Given the description of an element on the screen output the (x, y) to click on. 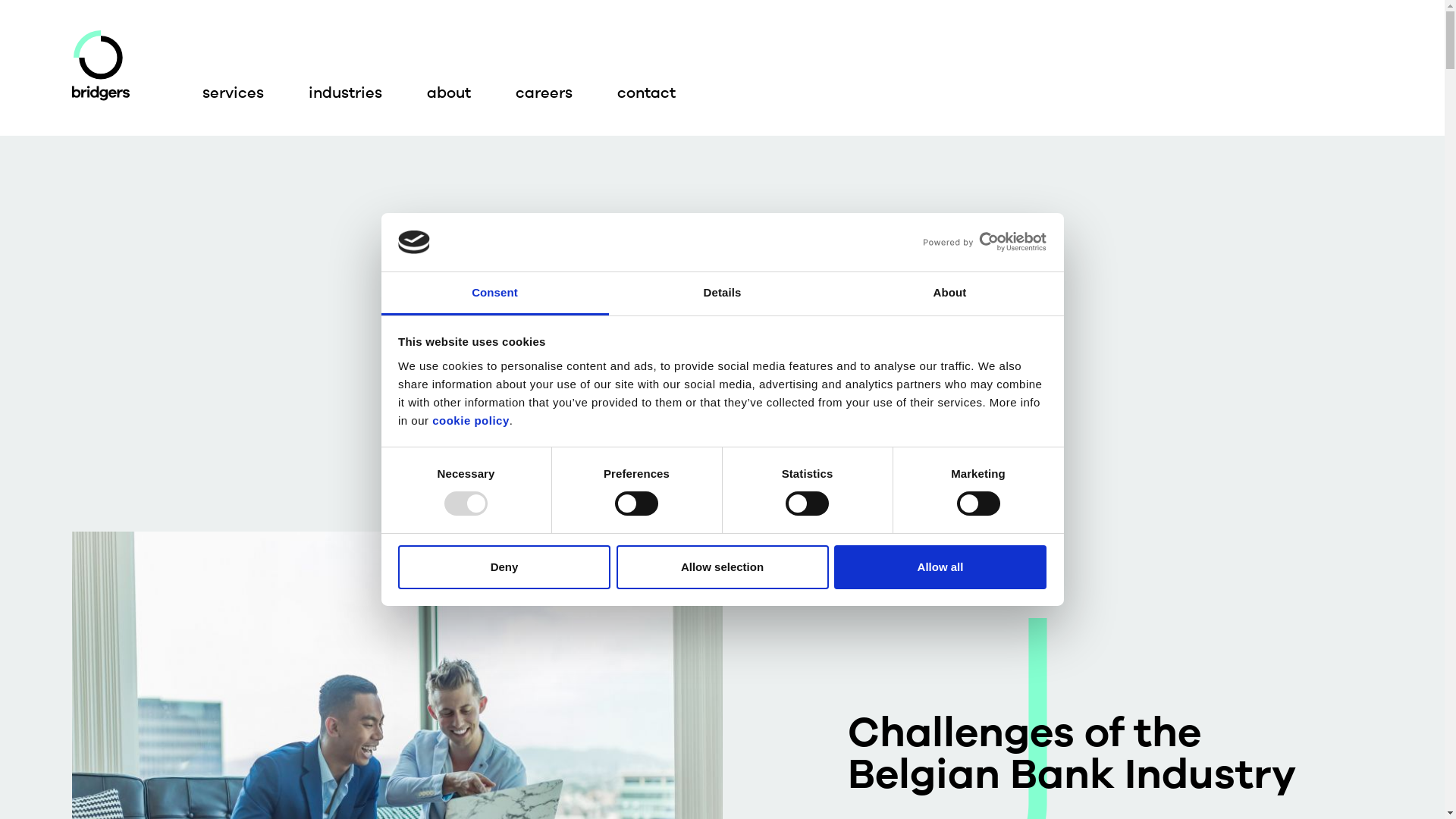
cookie policy Element type: text (470, 420)
services Element type: text (232, 92)
industries Element type: text (345, 92)
contact Element type: text (646, 92)
careers Element type: text (543, 92)
Allow selection Element type: text (721, 567)
Details Element type: text (721, 293)
about Element type: text (448, 92)
Allow all Element type: text (940, 567)
About Element type: text (949, 293)
Deny Element type: text (504, 567)
Consent Element type: text (494, 293)
